Given the description of an element on the screen output the (x, y) to click on. 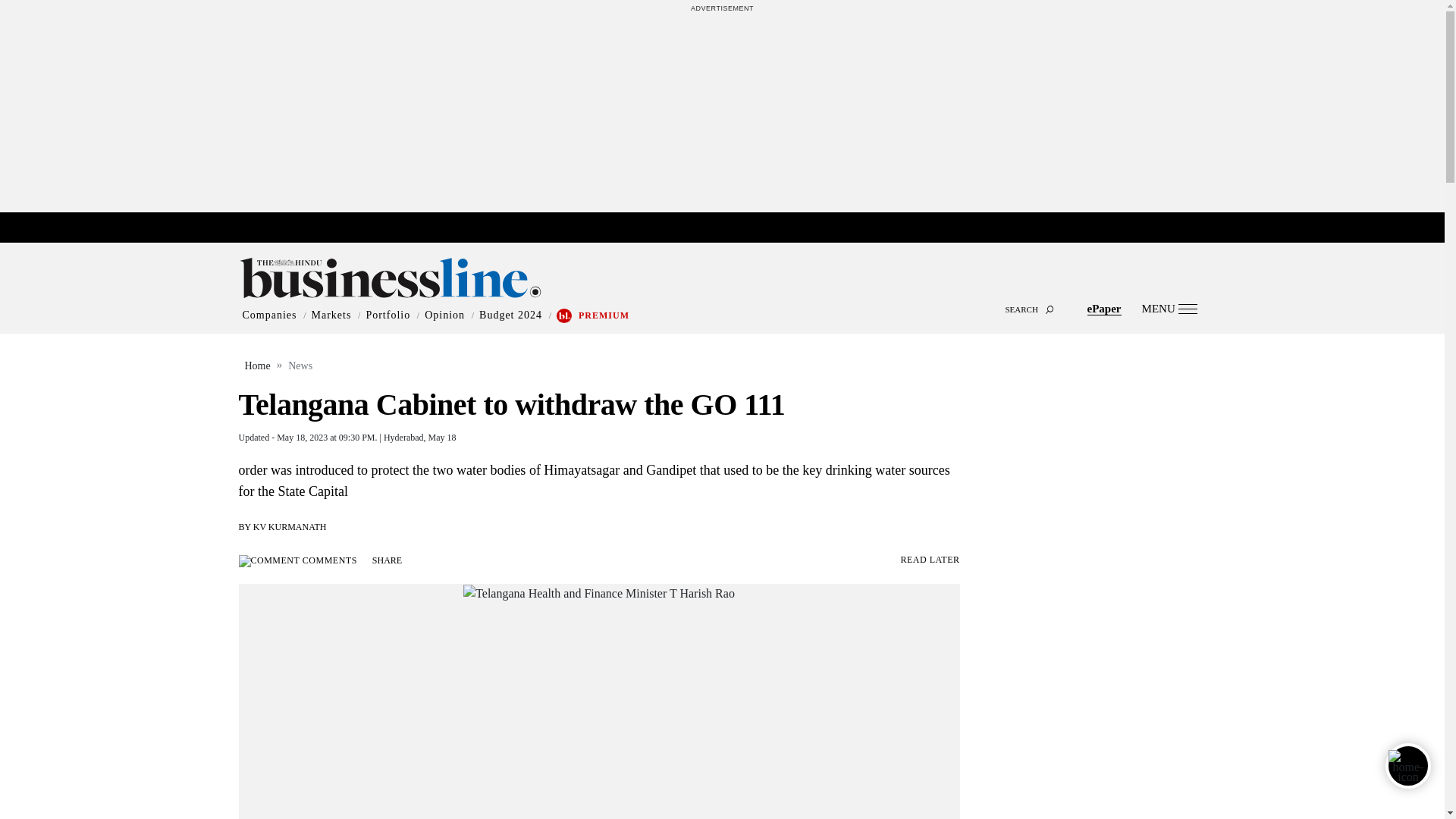
Budget 2024 (510, 315)
Companies (270, 315)
Opinion (444, 315)
SEARCH (721, 295)
ePaper (1104, 308)
Markets (330, 315)
Portfolio (387, 315)
PREMIUM (603, 315)
MENU (1168, 308)
marketupdate (729, 228)
Telangana Health and Finance Minister T Harish Rao (599, 593)
